Given the description of an element on the screen output the (x, y) to click on. 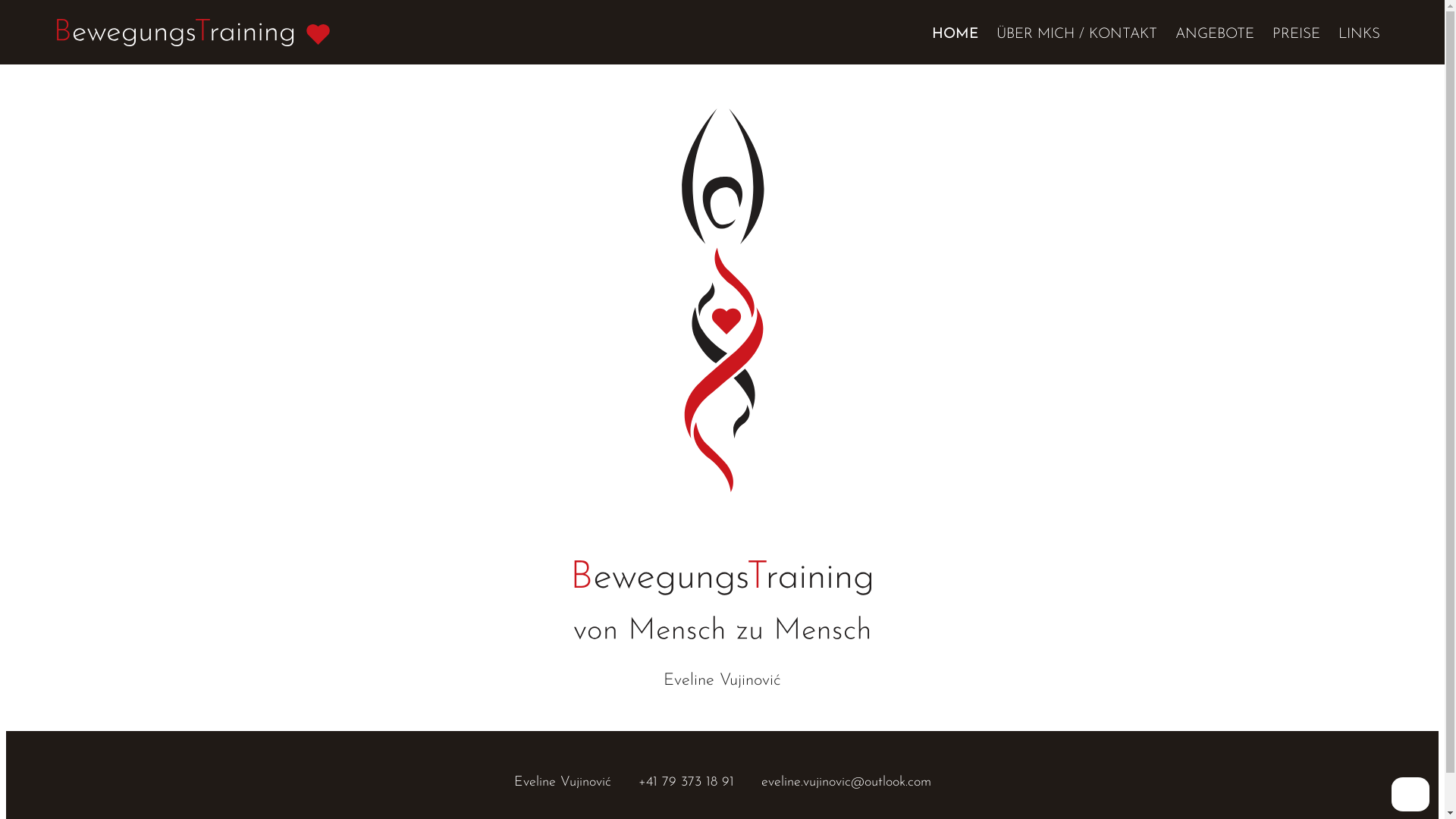
HOME Element type: text (954, 34)
+41 79 373 18 91 Element type: text (686, 782)
eveline.vujinovic@outlook.com Element type: text (846, 782)
PREISE Element type: text (1296, 34)
ANGEBOTE Element type: text (1214, 34)
LINKS Element type: text (1359, 34)
